Given the description of an element on the screen output the (x, y) to click on. 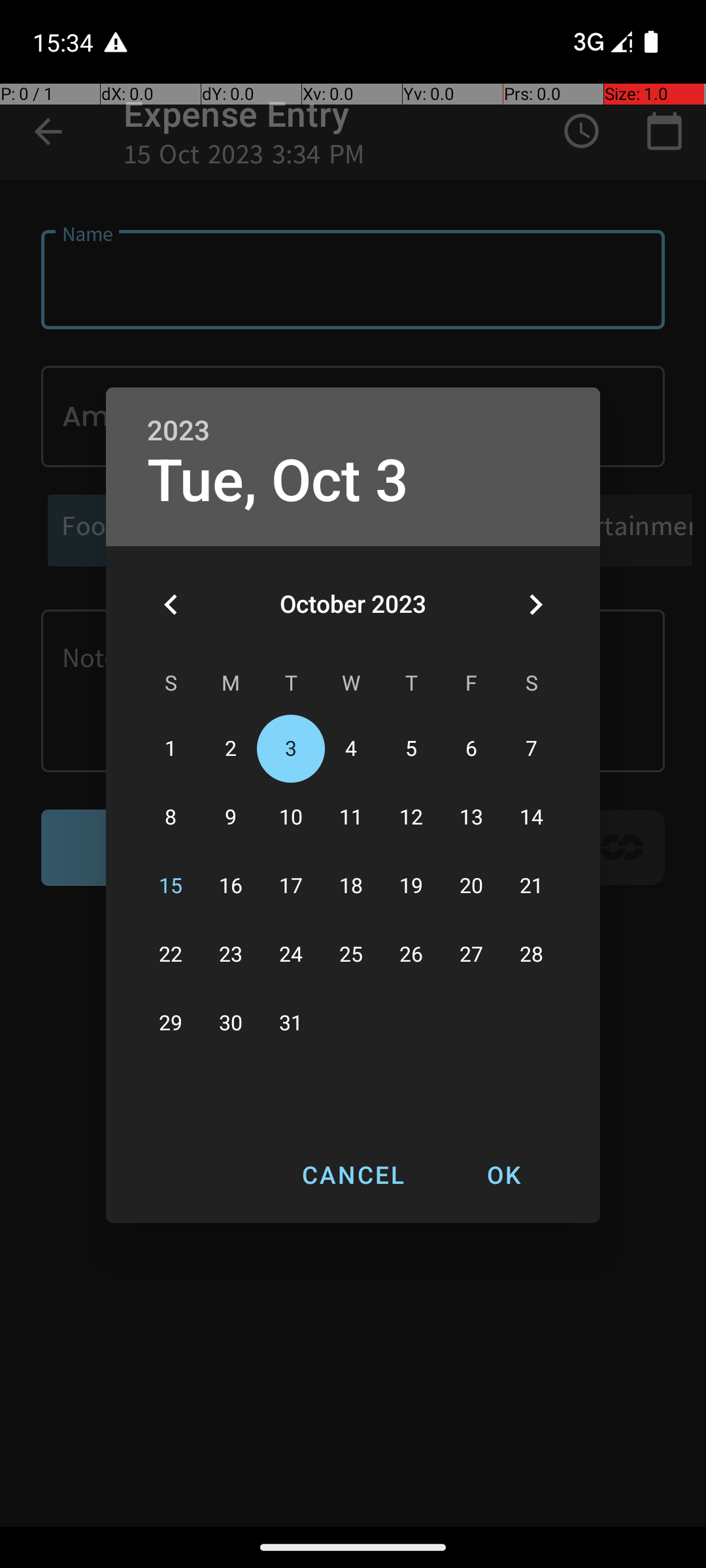
2023 Element type: android.widget.TextView (178, 430)
Tue, Oct 3 Element type: android.widget.TextView (278, 480)
Previous month Element type: android.widget.ImageButton (170, 604)
Next month Element type: android.widget.ImageButton (535, 604)
24 Element type: android.view.View (290, 954)
26 Element type: android.view.View (411, 954)
27 Element type: android.view.View (471, 954)
28 Element type: android.view.View (531, 954)
29 Element type: android.view.View (170, 1023)
31 Element type: android.view.View (290, 1023)
